Given the description of an element on the screen output the (x, y) to click on. 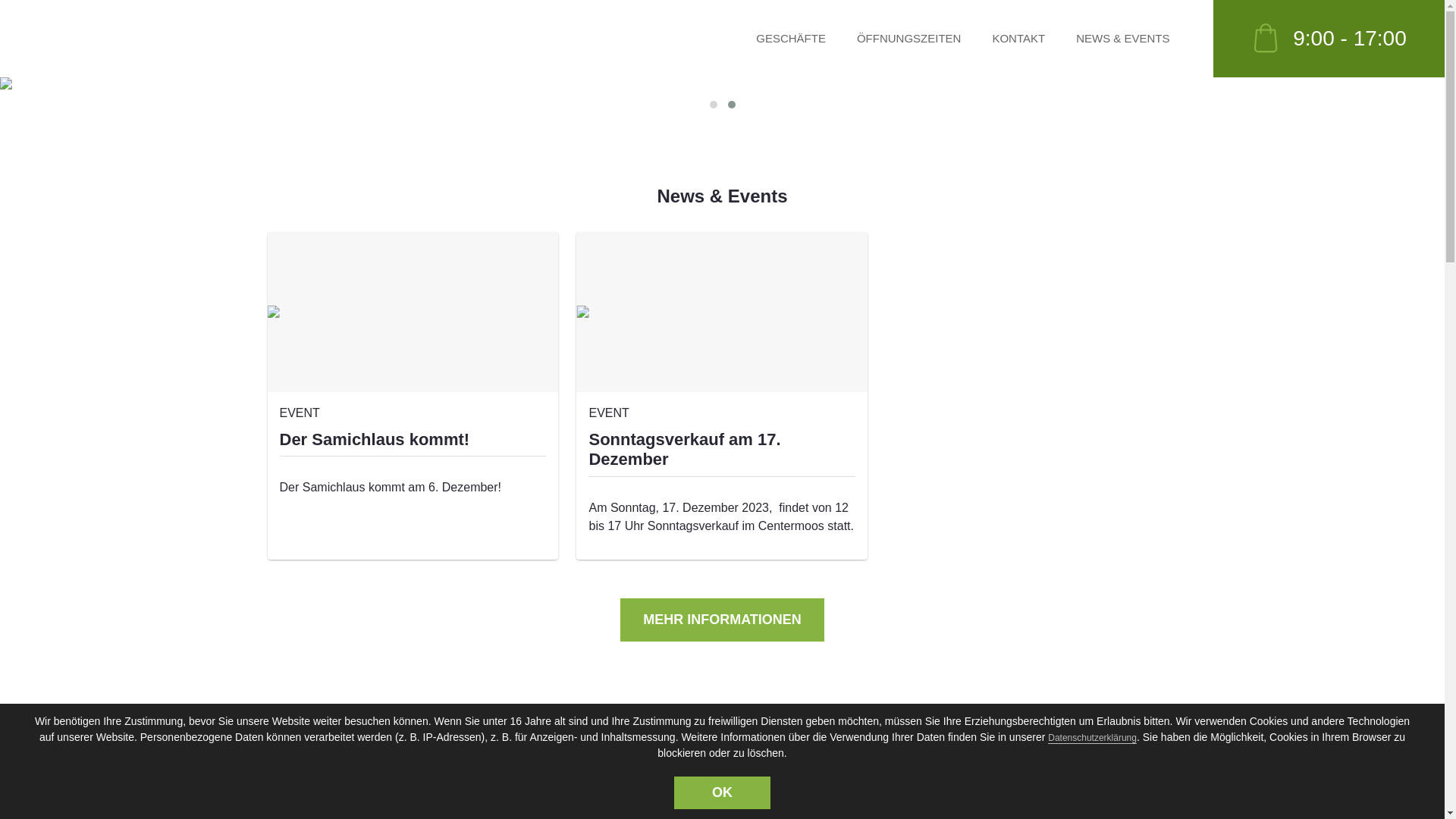
KONTAKT Element type: text (1018, 38)
Sonntagsverkauf am 17. Dezember Element type: text (684, 448)
OK Element type: text (722, 792)
9:00 - 17:00 Element type: text (1324, 38)
MEHR INFORMATIONEN Element type: text (722, 619)
NEWS & EVENTS Element type: text (1122, 38)
Der Samichlaus kommt! Element type: text (374, 438)
